Given the description of an element on the screen output the (x, y) to click on. 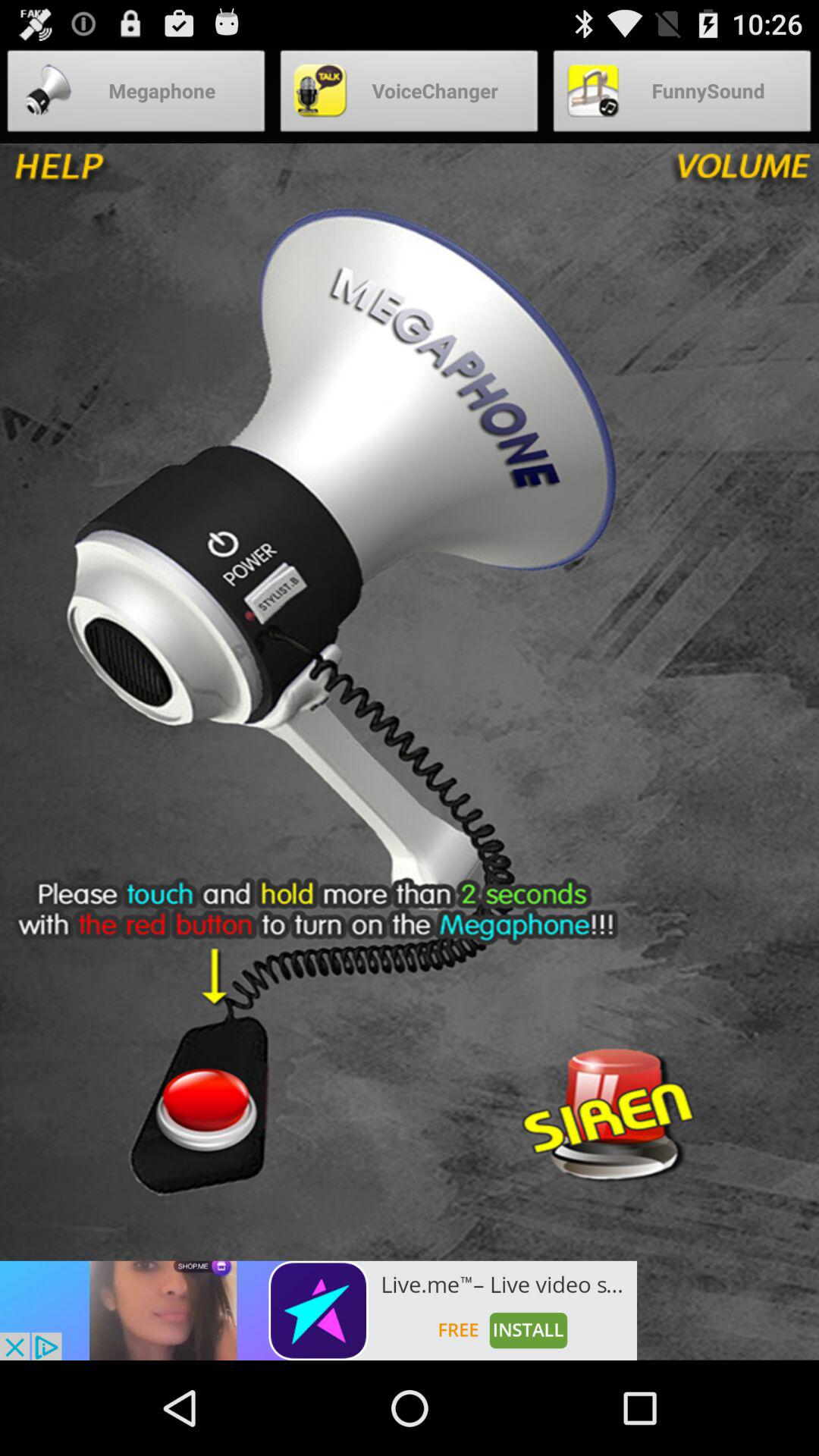
turn on megaphone option (204, 1108)
